Given the description of an element on the screen output the (x, y) to click on. 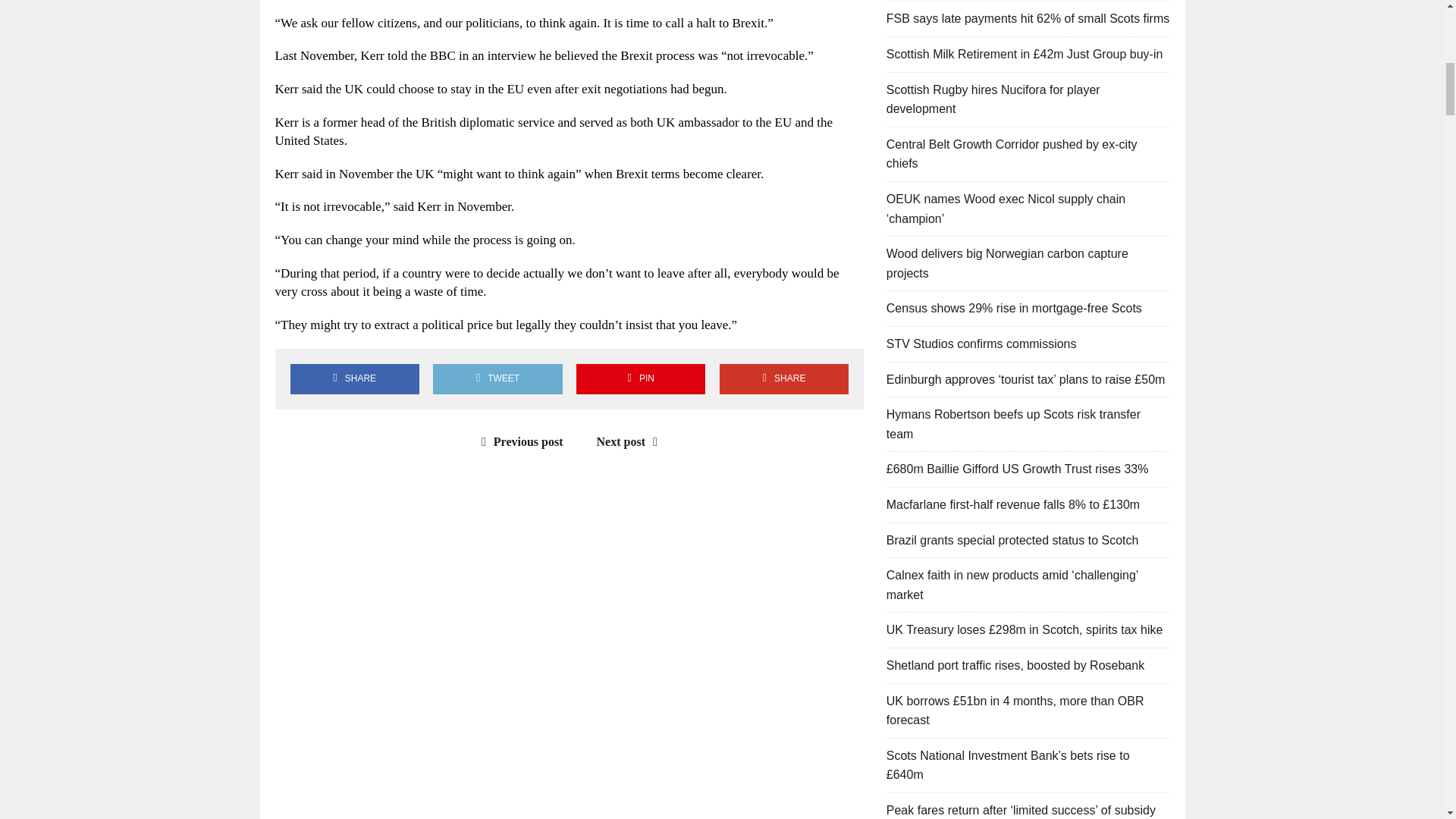
Previous post (518, 440)
SHARE (354, 378)
SHARE (783, 378)
Next post (630, 440)
PIN (640, 378)
Share on Facebook (354, 378)
Tweet This Post (497, 378)
TWEET (497, 378)
Pin This Post (640, 378)
